Given the description of an element on the screen output the (x, y) to click on. 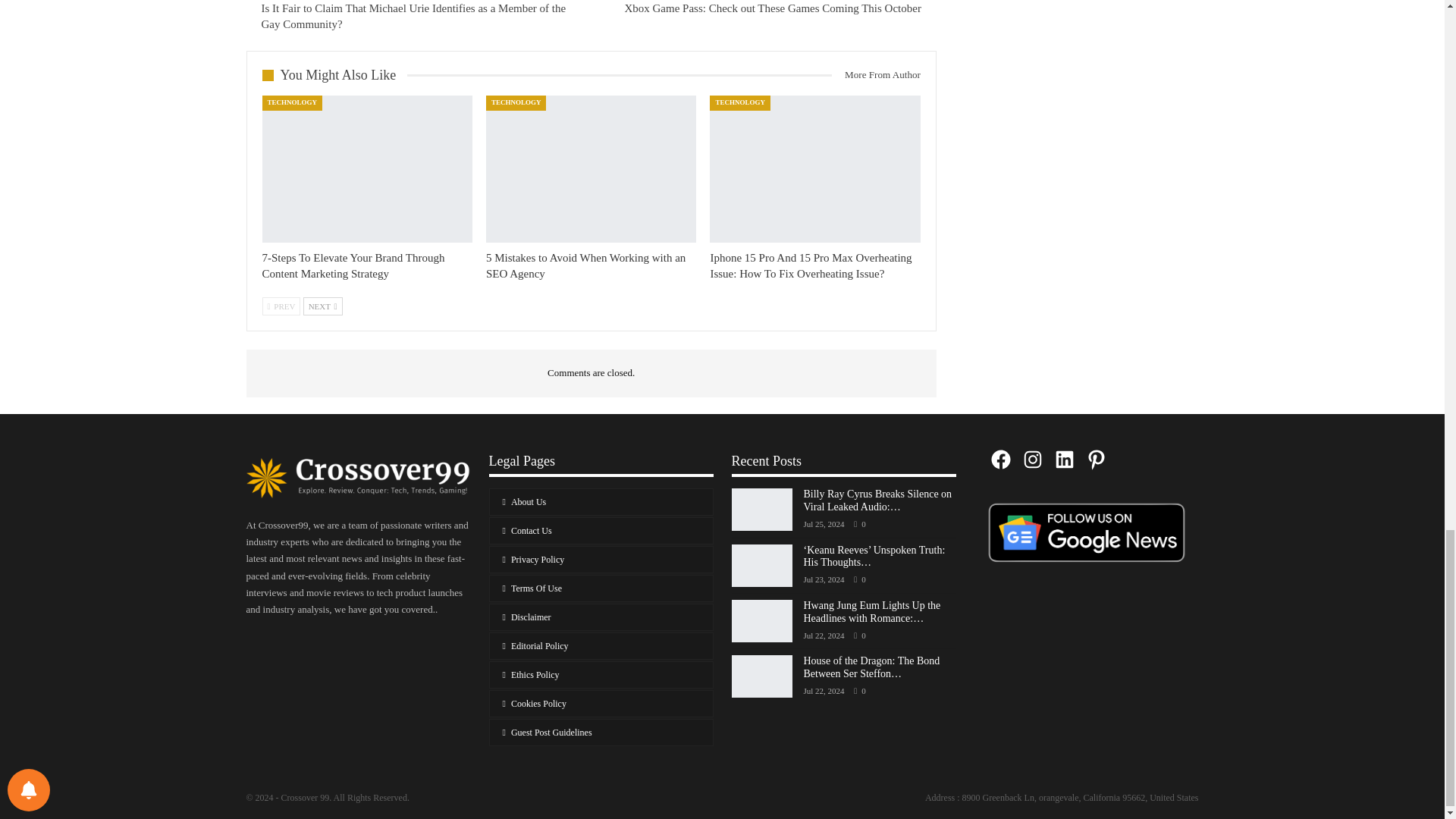
Next (322, 306)
5 Mistakes to Avoid When Working with an SEO Agency (585, 265)
Previous (281, 306)
5 Mistakes to Avoid When Working with an SEO Agency (590, 168)
